Given the description of an element on the screen output the (x, y) to click on. 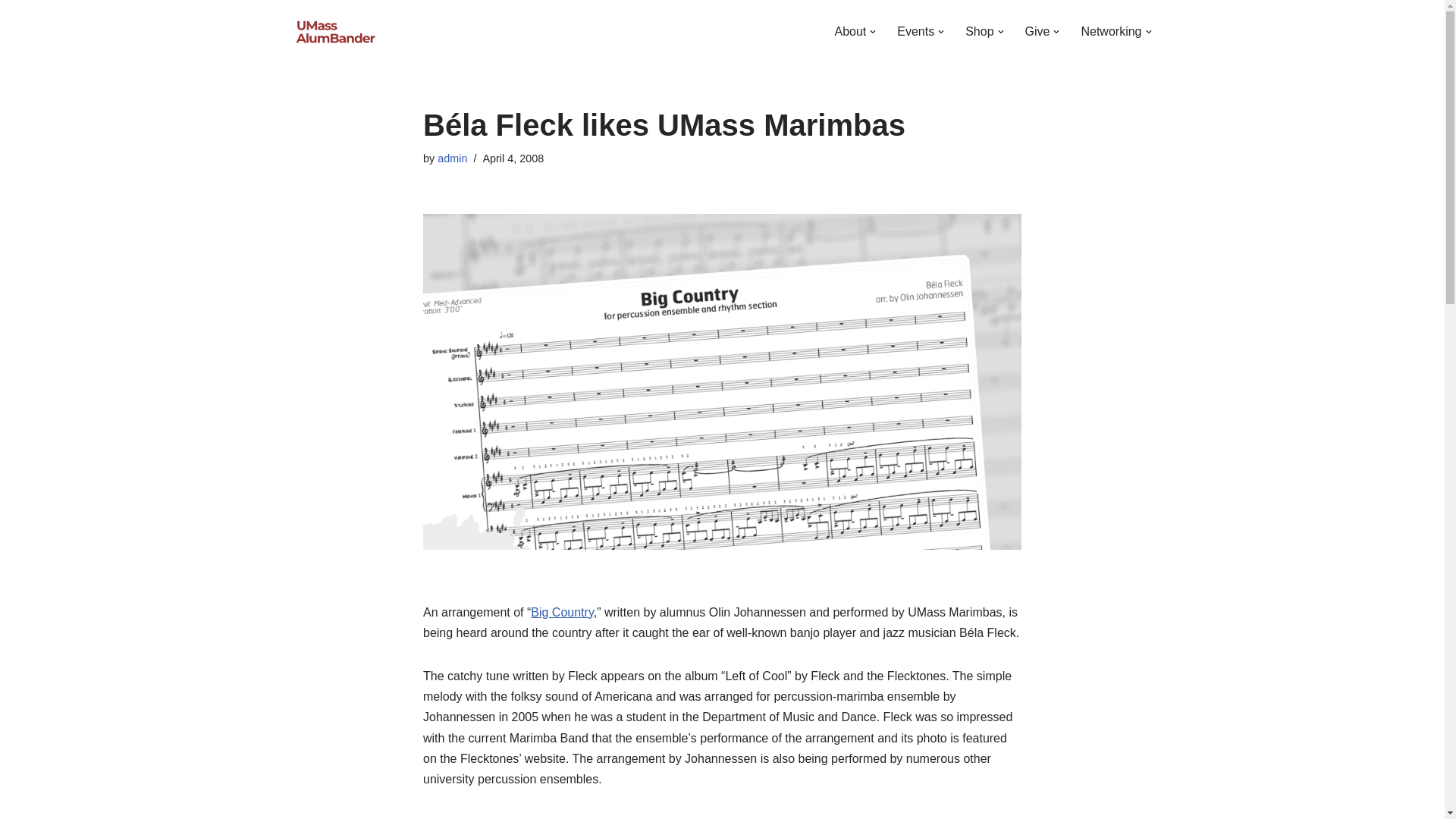
Skip to content (11, 31)
About (850, 31)
Shop (978, 31)
Posts by admin (452, 158)
Networking (1110, 31)
Give (1037, 31)
Events (915, 31)
